Given the description of an element on the screen output the (x, y) to click on. 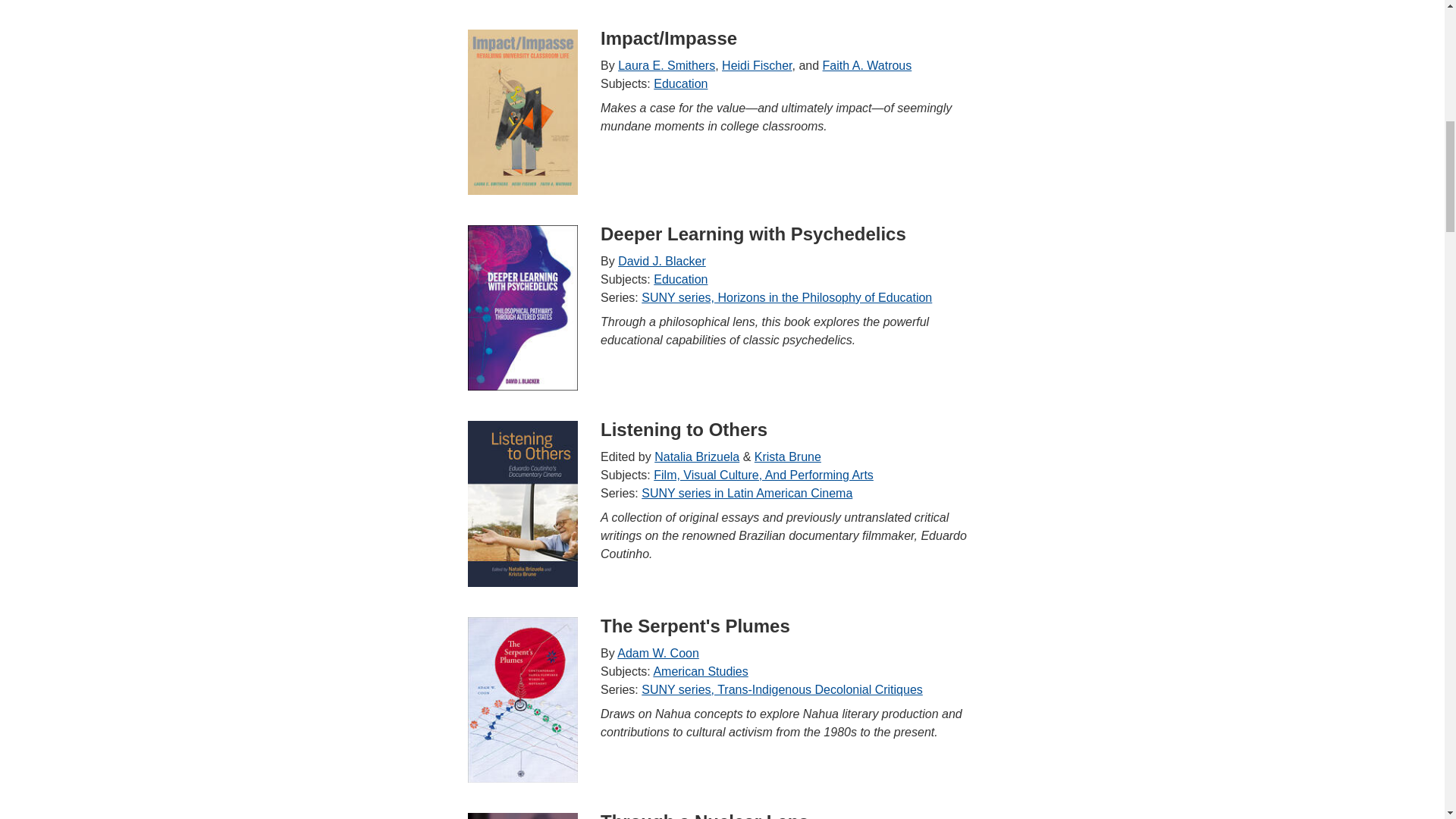
View The Serpent's Plumes (522, 699)
View Listening to Others (522, 503)
View Through a Nuclear Lens (522, 816)
View Deeper Learning with Psychedelics (522, 307)
